Given the description of an element on the screen output the (x, y) to click on. 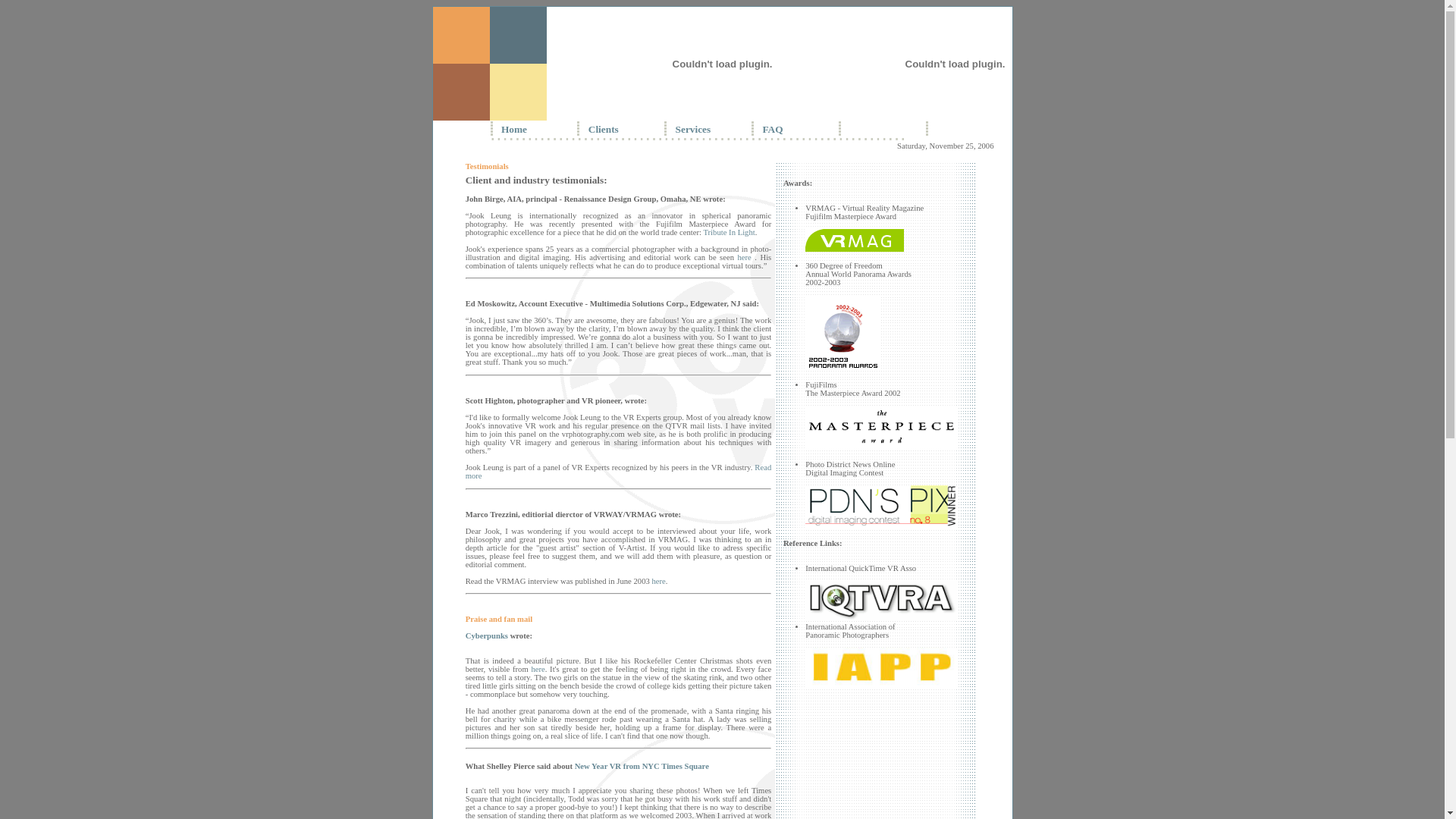
here Element type: text (537, 669)
Read more Element type: text (618, 471)
FAQ Element type: text (772, 128)
  Element type: text (934, 128)
Home Element type: text (514, 128)
New Year VR from NYC Times Square Element type: text (641, 766)
Cyberpunks Element type: text (486, 635)
here Element type: text (743, 257)
Clients Element type: text (603, 128)
Services Element type: text (693, 128)
Tribute In Light Element type: text (728, 232)
here Element type: text (658, 581)
   Element type: text (848, 128)
